Given the description of an element on the screen output the (x, y) to click on. 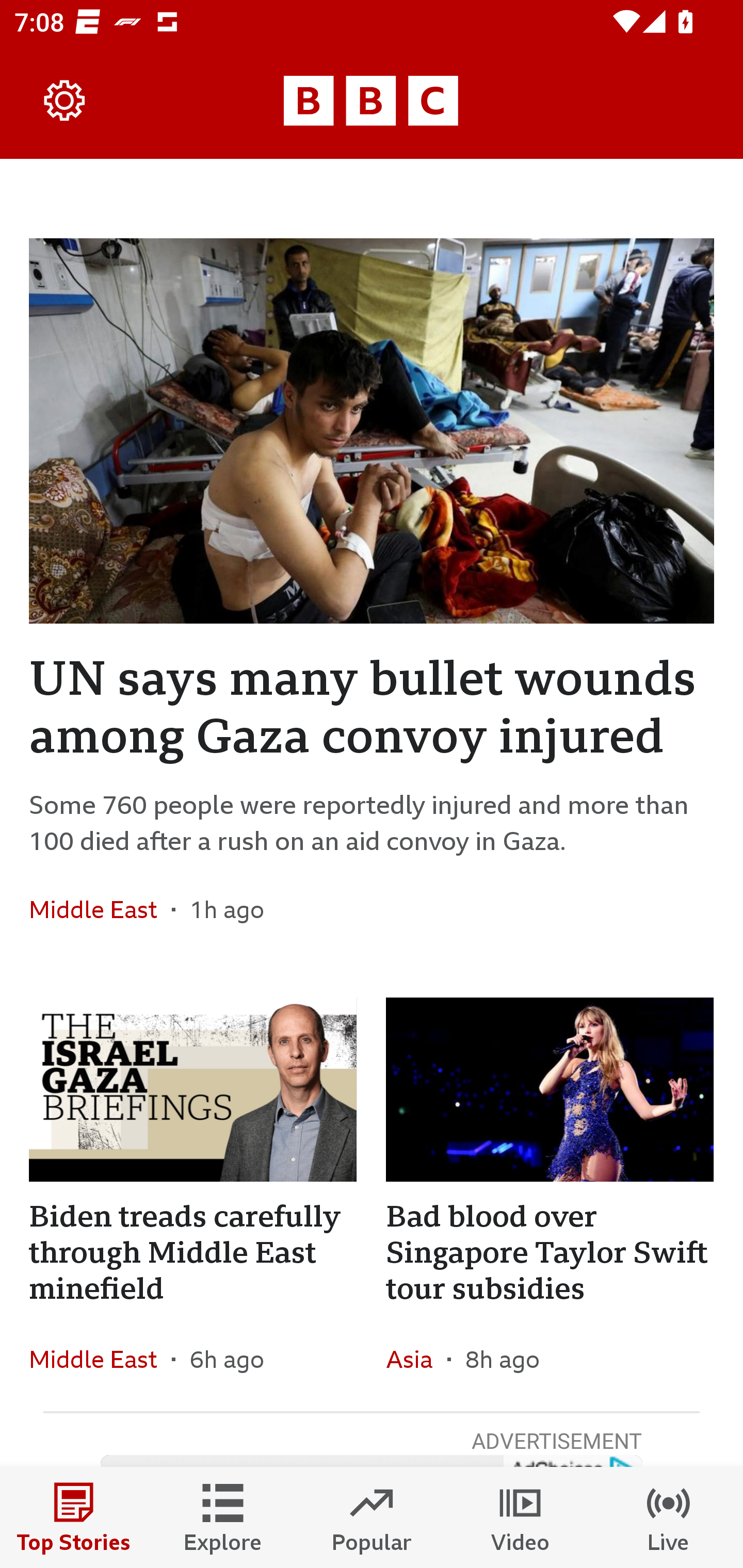
Settings (64, 100)
Middle East In the section Middle East (99, 909)
Middle East In the section Middle East (99, 1359)
Asia In the section Asia (416, 1359)
Explore (222, 1517)
Popular (371, 1517)
Video (519, 1517)
Live (668, 1517)
